Given the description of an element on the screen output the (x, y) to click on. 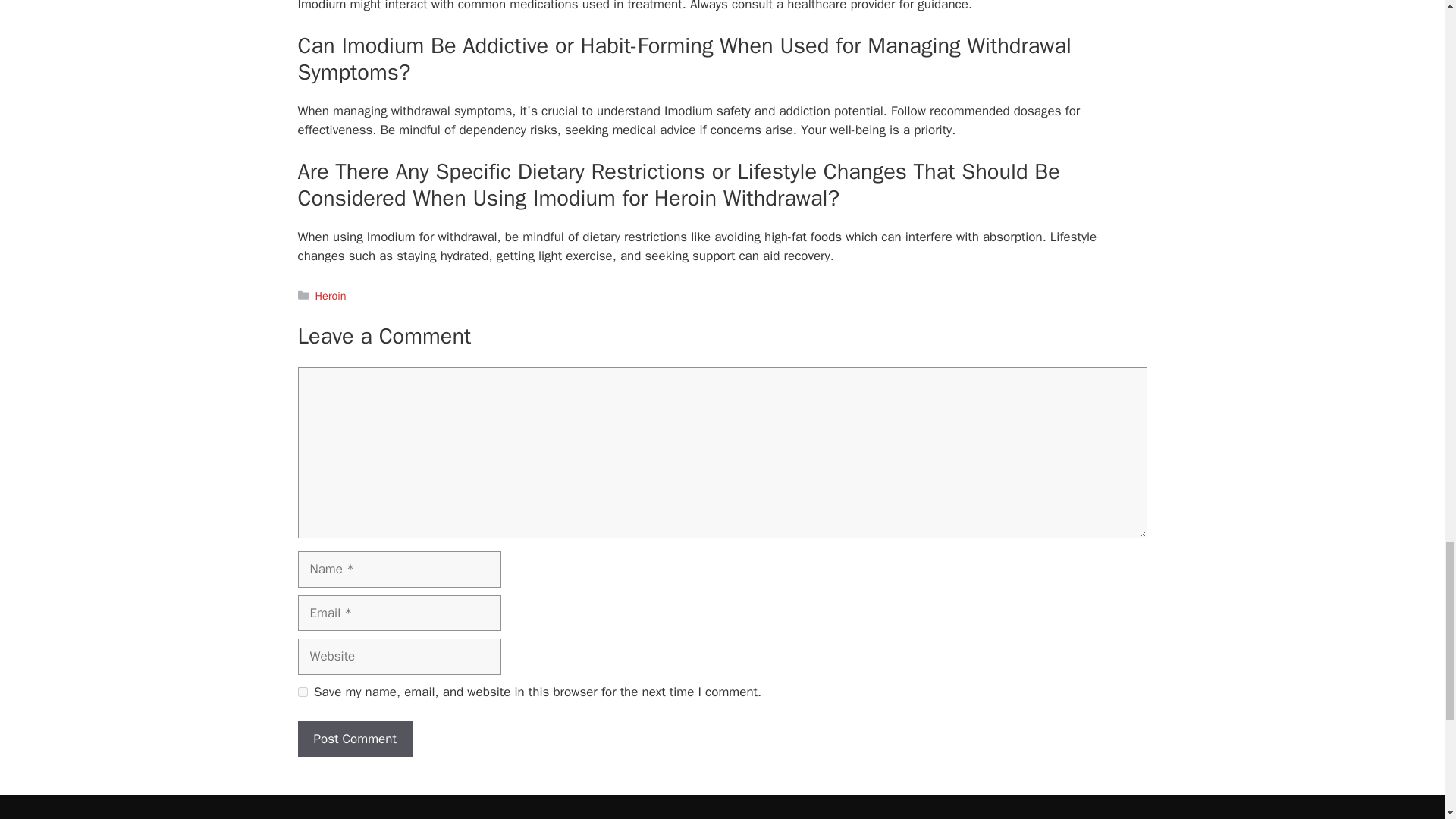
Post Comment (354, 739)
yes (302, 691)
